Given the description of an element on the screen output the (x, y) to click on. 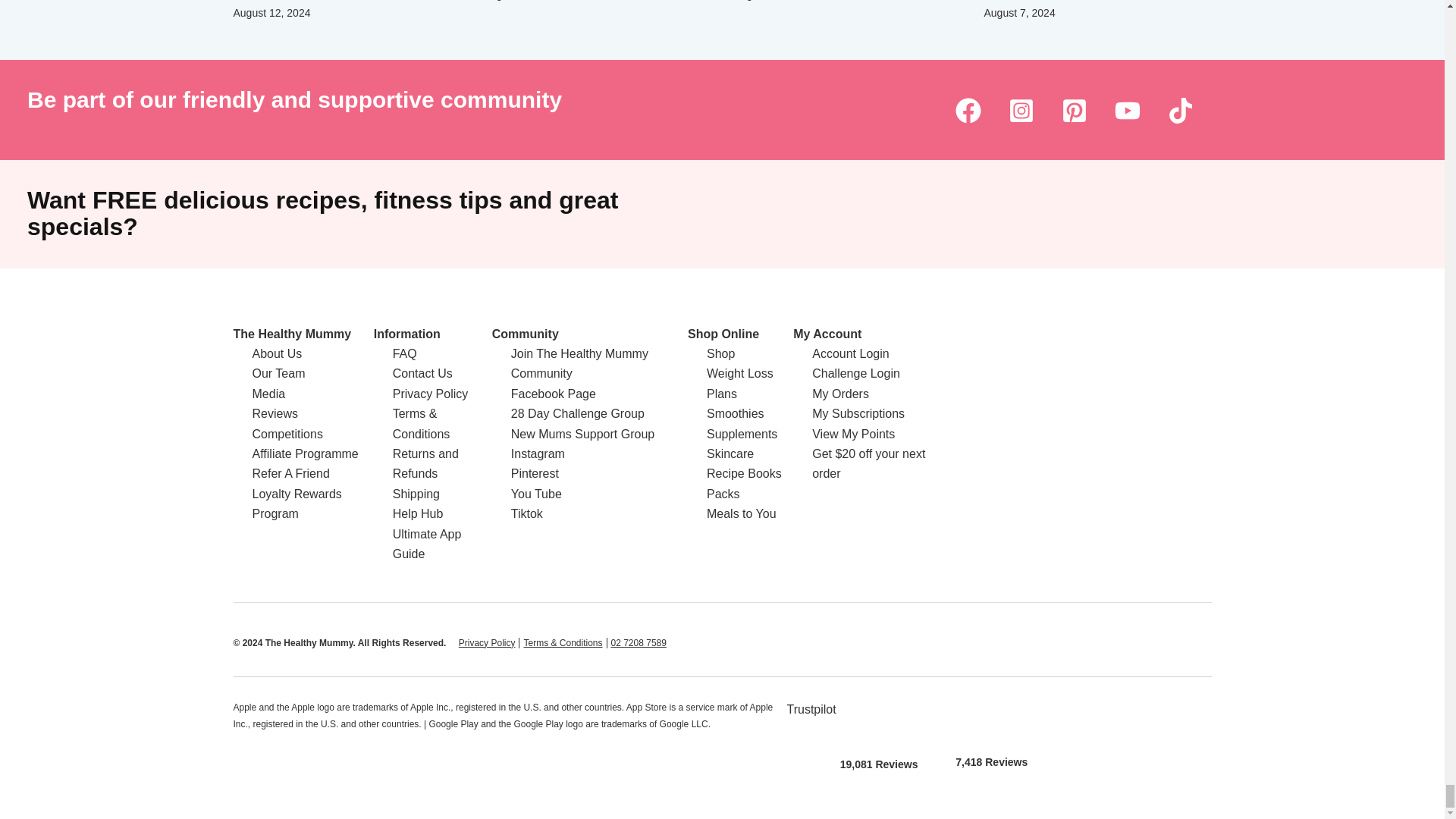
Facebook (968, 110)
Join Our Affiliate Programme (304, 453)
Pinterest (1074, 110)
Instagram (1020, 110)
You Tube (1127, 110)
TikTok (1180, 110)
The Healthy Mummy (292, 333)
download on apple (879, 719)
Privacy Policy (486, 643)
